Given the description of an element on the screen output the (x, y) to click on. 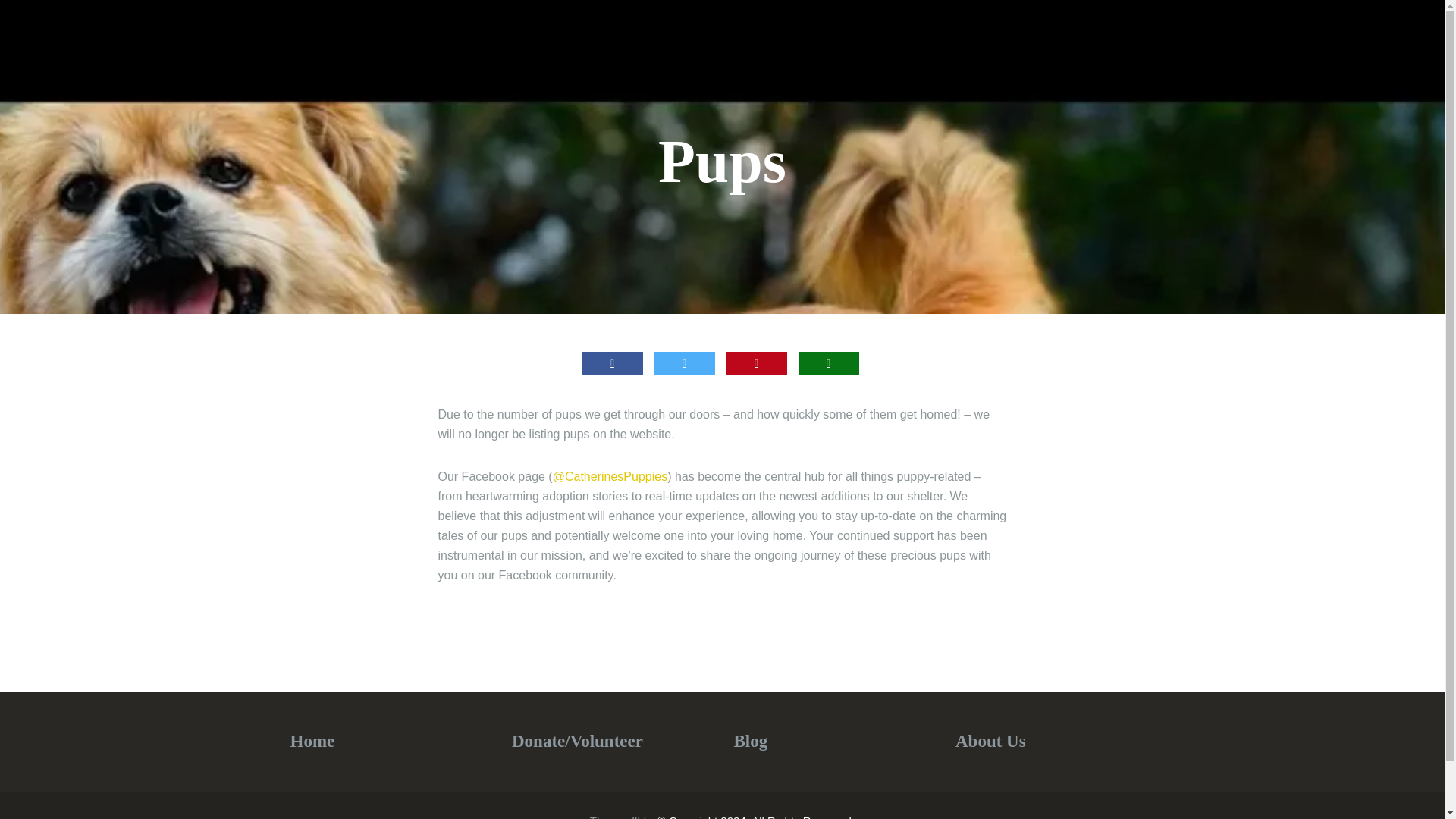
Blog (750, 741)
Home (311, 741)
About Us (990, 741)
Illdy (640, 816)
Volunteer (606, 741)
Illdy (640, 816)
Donate (538, 741)
